Given the description of an element on the screen output the (x, y) to click on. 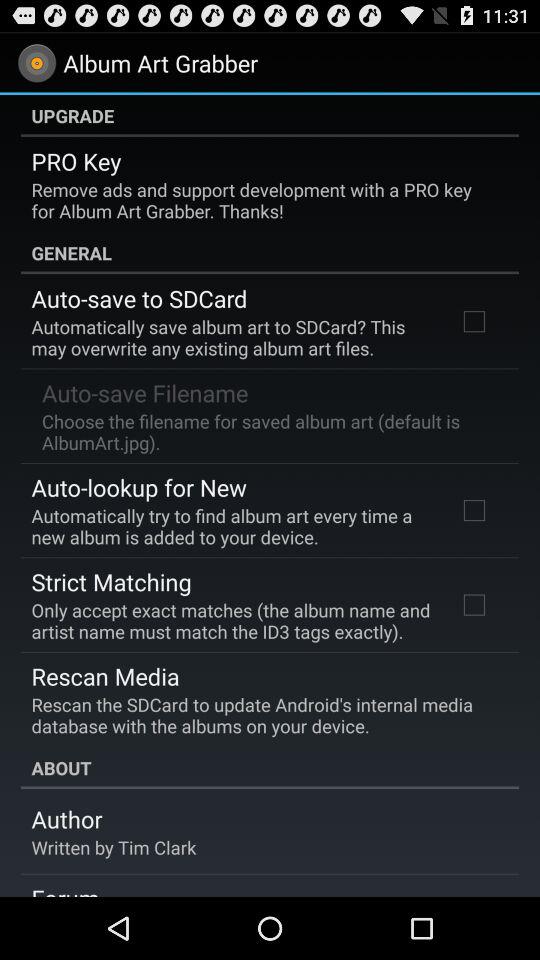
press choose the filename item (268, 431)
